Given the description of an element on the screen output the (x, y) to click on. 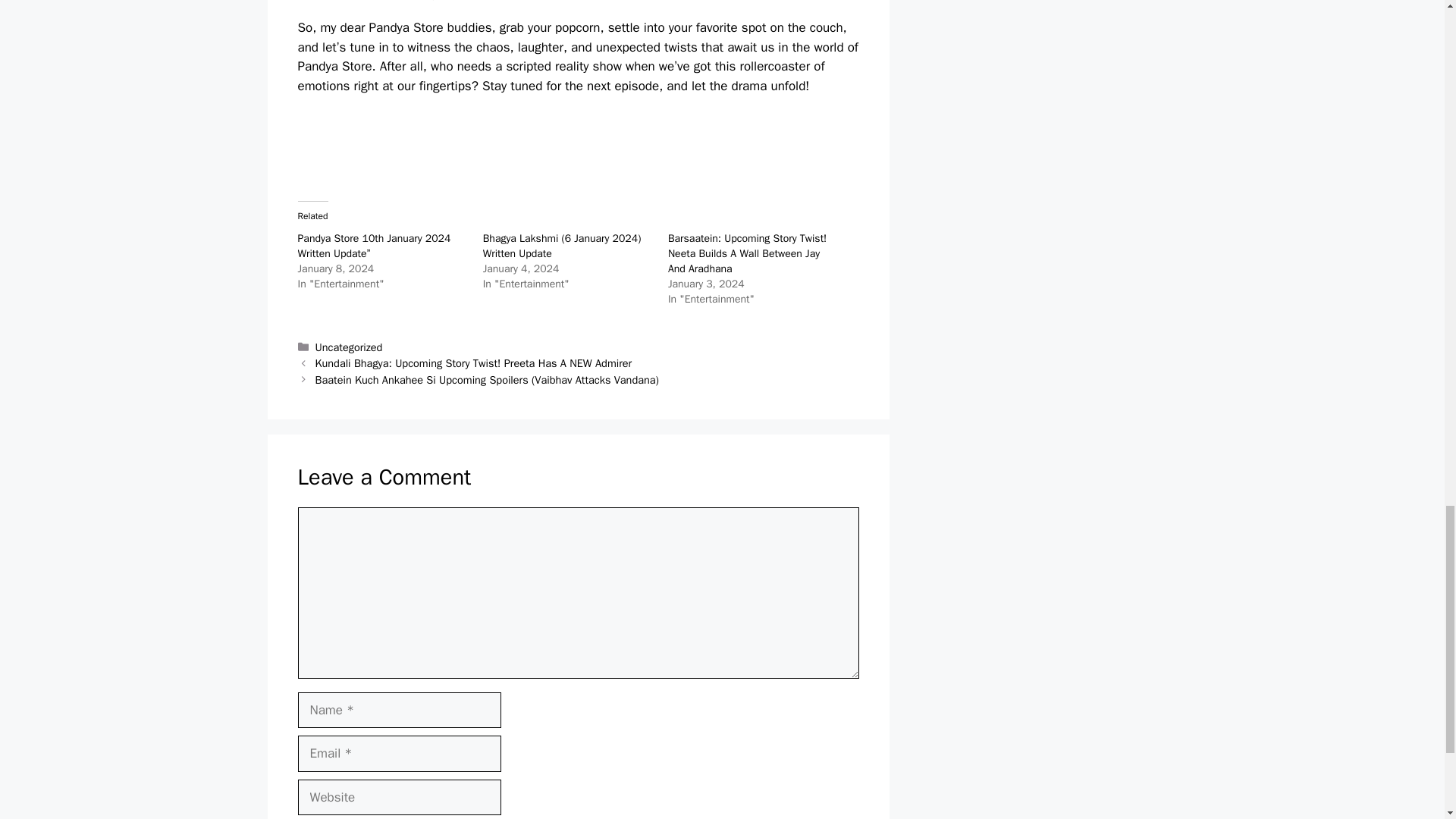
Uncategorized (348, 346)
